Given the description of an element on the screen output the (x, y) to click on. 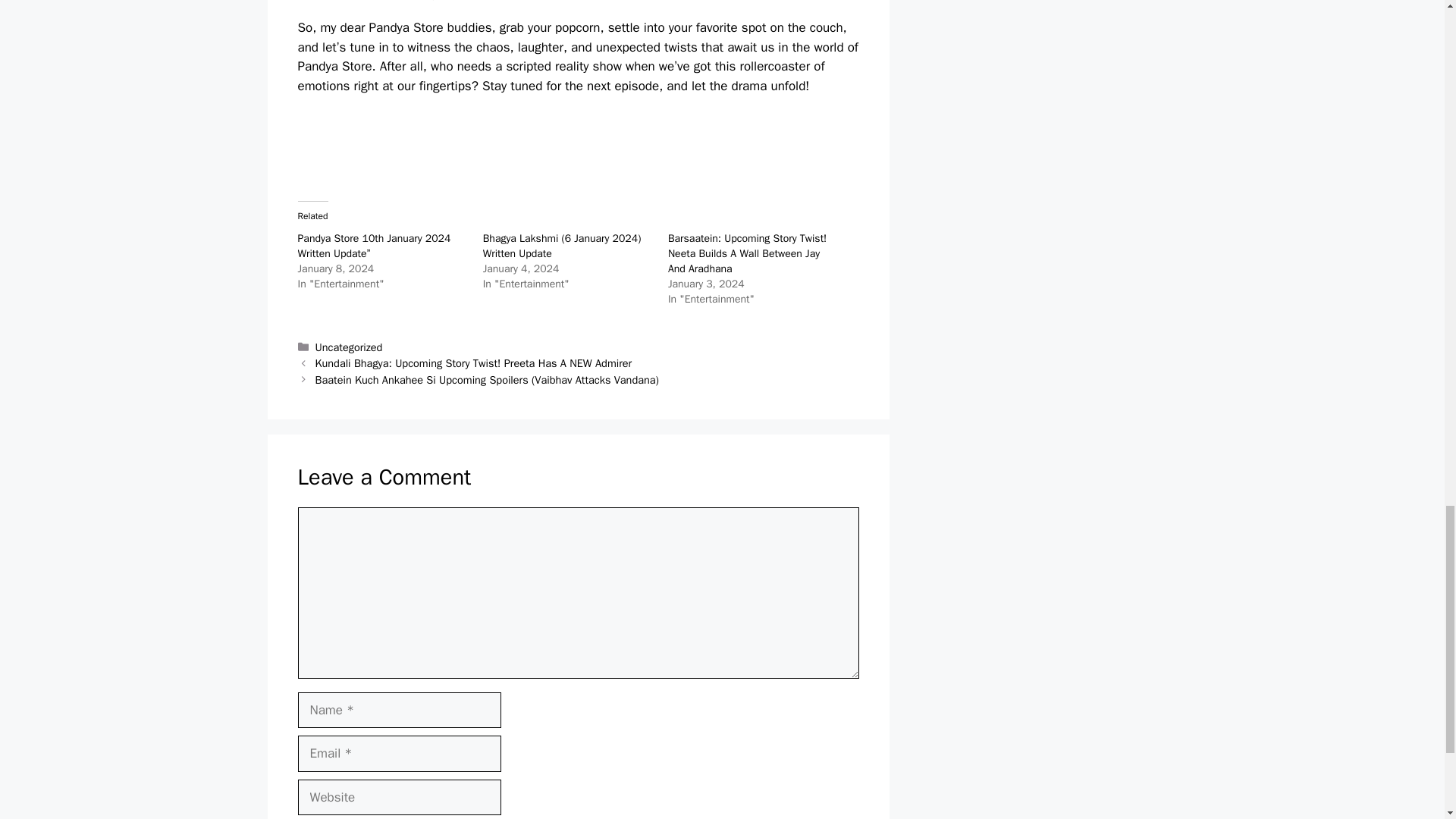
Uncategorized (348, 346)
